Given the description of an element on the screen output the (x, y) to click on. 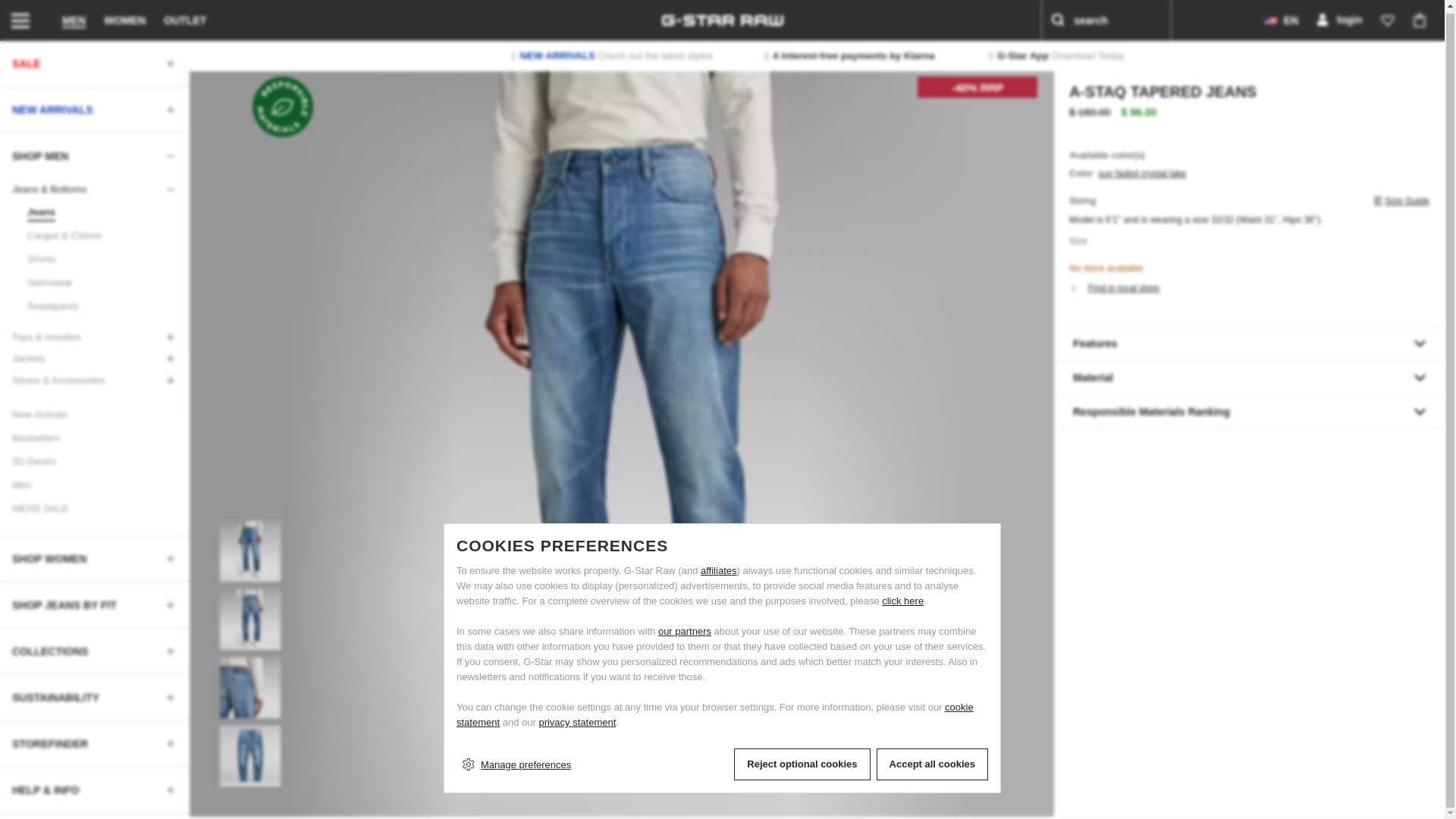
MEN (73, 19)
NEW ARRIVALS (94, 107)
Swimwear (45, 279)
Sweatpants (48, 303)
SALE (94, 61)
WOMEN (124, 19)
EN (1281, 19)
Jeans (36, 209)
login (1338, 19)
SHOP MEN (94, 153)
